Given the description of an element on the screen output the (x, y) to click on. 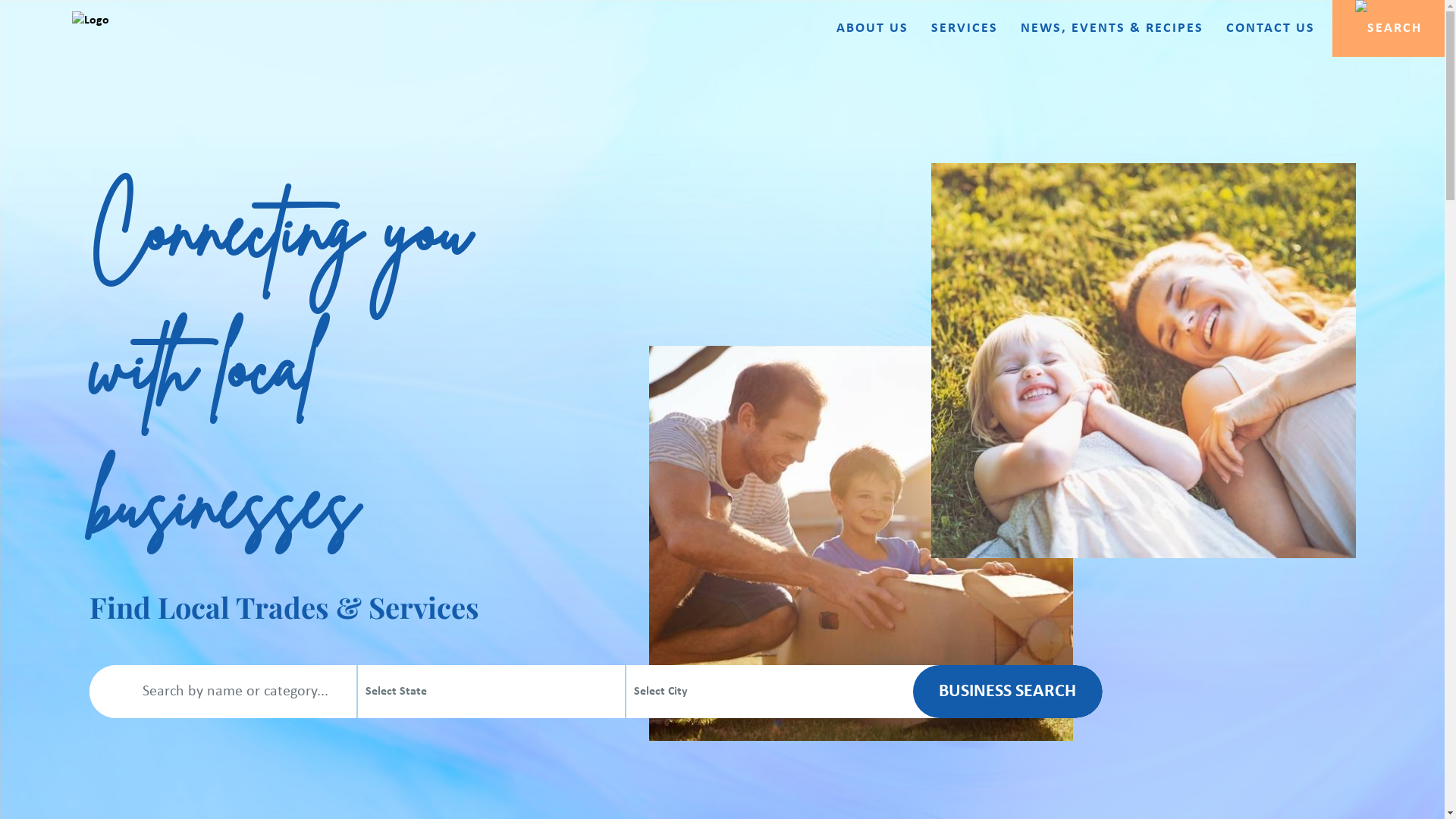
Business search Element type: text (1007, 691)
CONTACT US Element type: text (1270, 28)
ABOUT US Element type: text (872, 28)
NEWS, EVENTS & RECIPES Element type: text (1111, 28)
SERVICES Element type: text (964, 28)
